Given the description of an element on the screen output the (x, y) to click on. 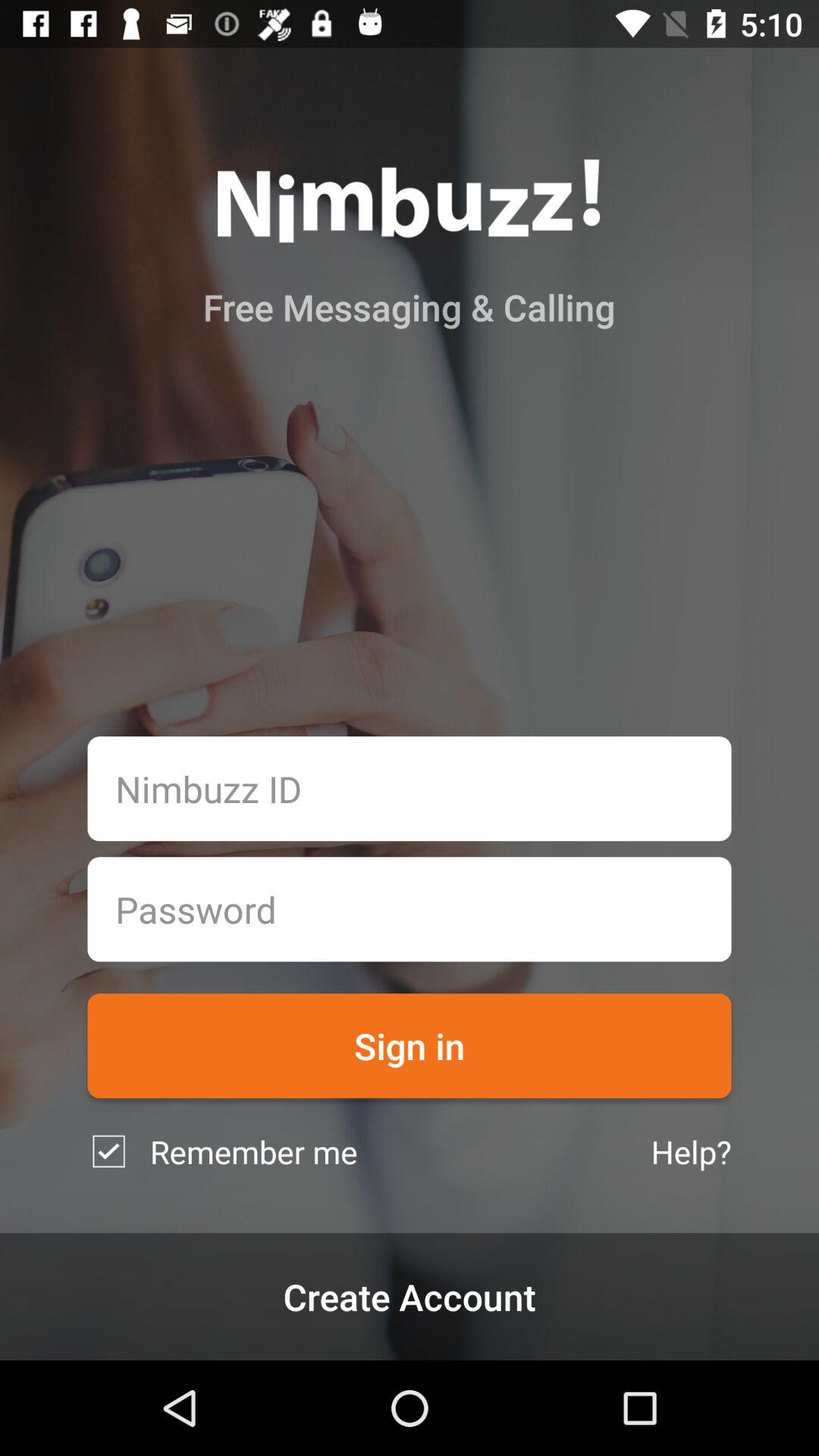
enter nimbuzz id (409, 788)
